Given the description of an element on the screen output the (x, y) to click on. 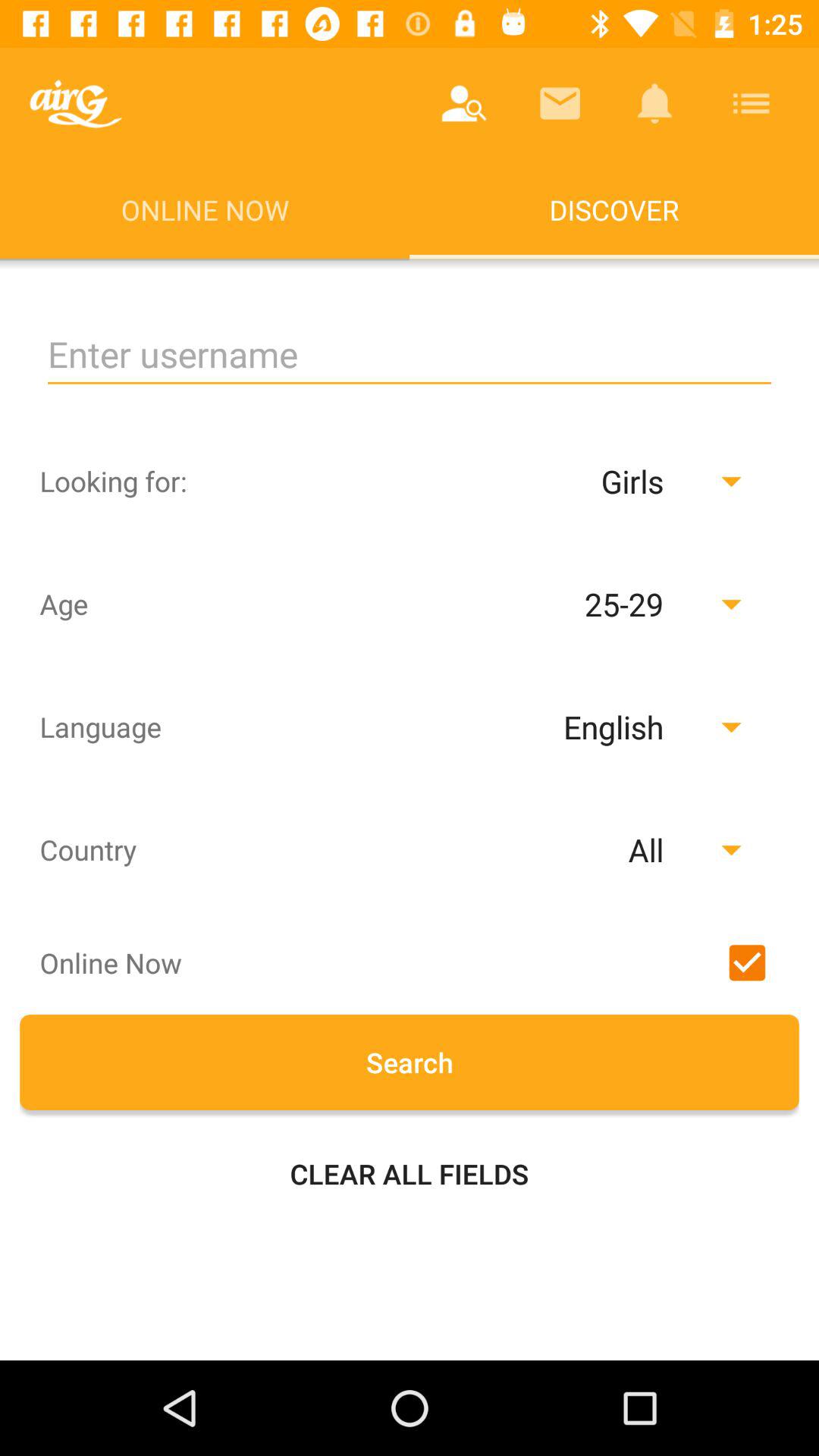
input username (409, 354)
